Given the description of an element on the screen output the (x, y) to click on. 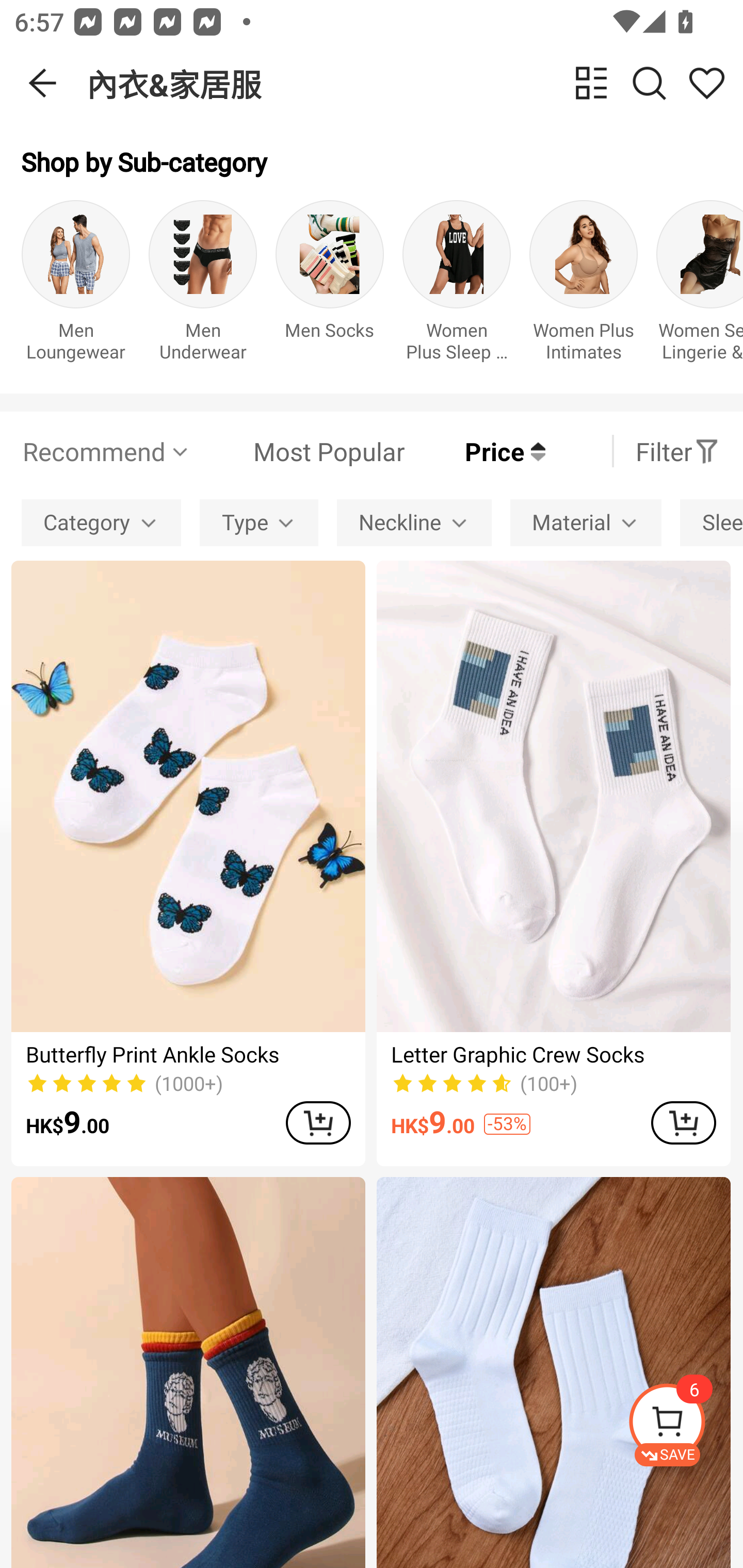
內衣&家居服 change view Search Share (414, 82)
change view (591, 82)
Search (648, 82)
Share (706, 82)
Men Loungewear (75, 285)
Men Underwear (202, 285)
Men Socks (329, 285)
Women Plus Sleep & Lounge (456, 285)
Women Plus Intimates (583, 285)
Women Sexy Lingerie & Costumes (699, 285)
Recommend (106, 450)
Most Popular (297, 450)
Price (474, 450)
Filter (677, 450)
Category (101, 521)
Type (258, 521)
Neckline (413, 521)
Material (585, 521)
ADD TO CART (318, 1122)
ADD TO CART (683, 1122)
Men Figure Graphic Crew Socks (188, 1372)
Men Minimalist Solid Crew Socks (553, 1372)
SAVE (685, 1424)
